Given the description of an element on the screen output the (x, y) to click on. 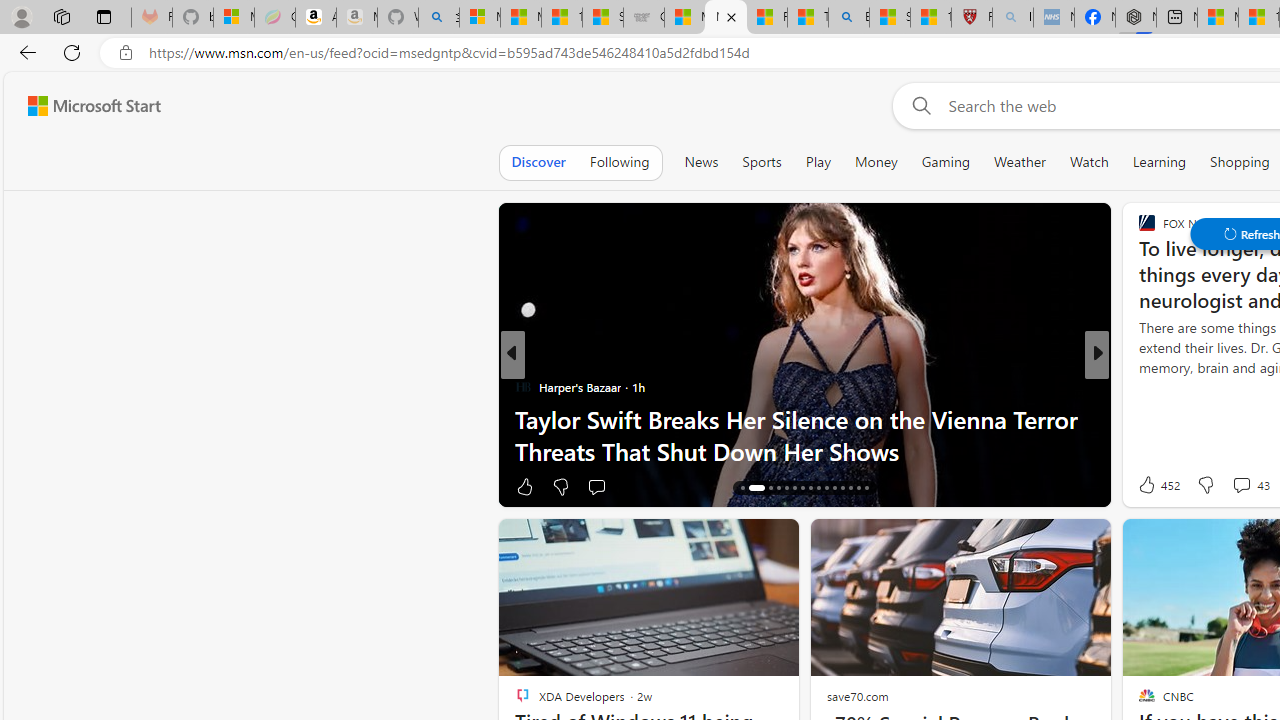
285 Like (1151, 486)
